Given the description of an element on the screen output the (x, y) to click on. 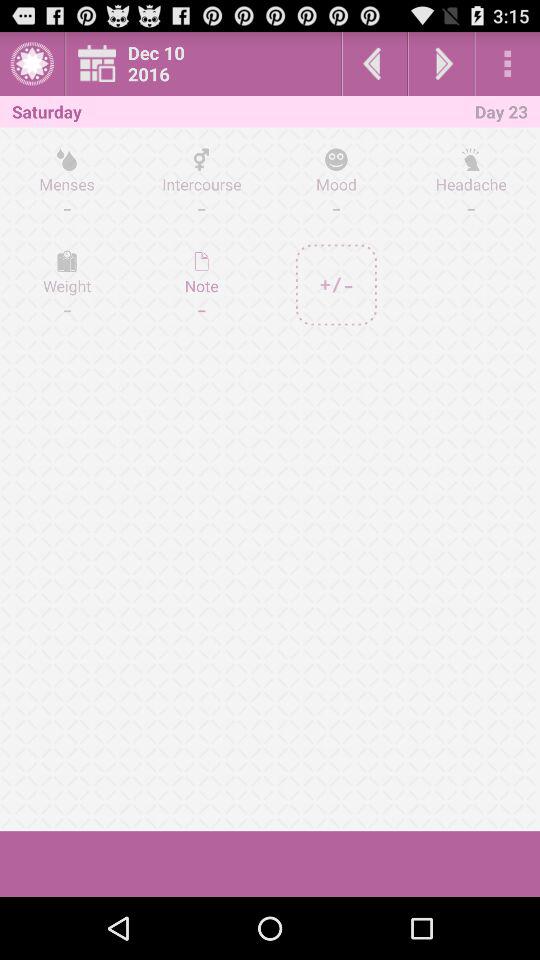
choose icon next to mood
_ item (201, 183)
